Given the description of an element on the screen output the (x, y) to click on. 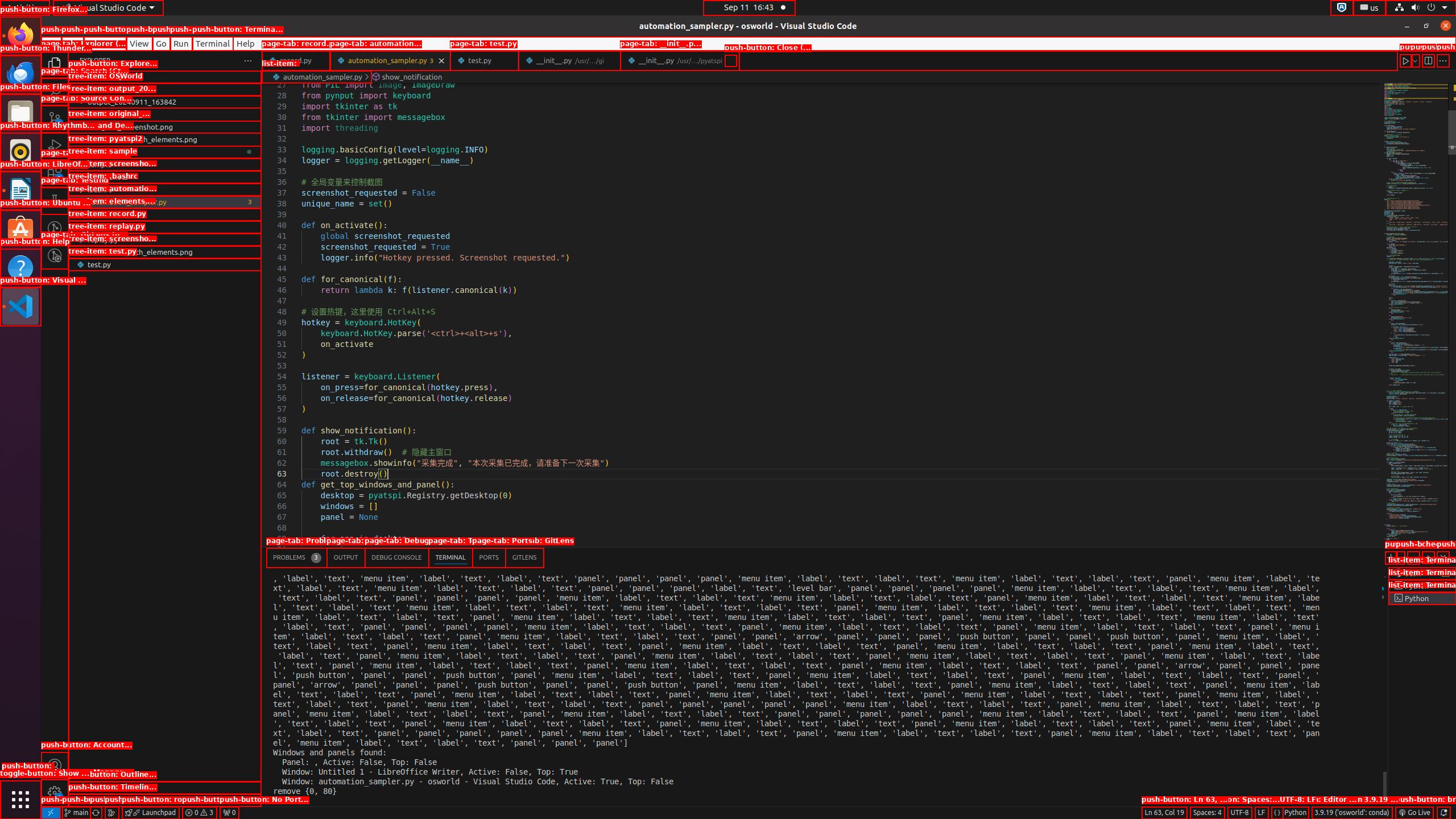
LF Element type: push-button (1261, 812)
test.py Element type: page-tab (483, 60)
File Element type: push-button (50, 43)
screenshot_with_elements.png Element type: tree-item (164, 251)
record.py Element type: tree-item (164, 226)
